Given the description of an element on the screen output the (x, y) to click on. 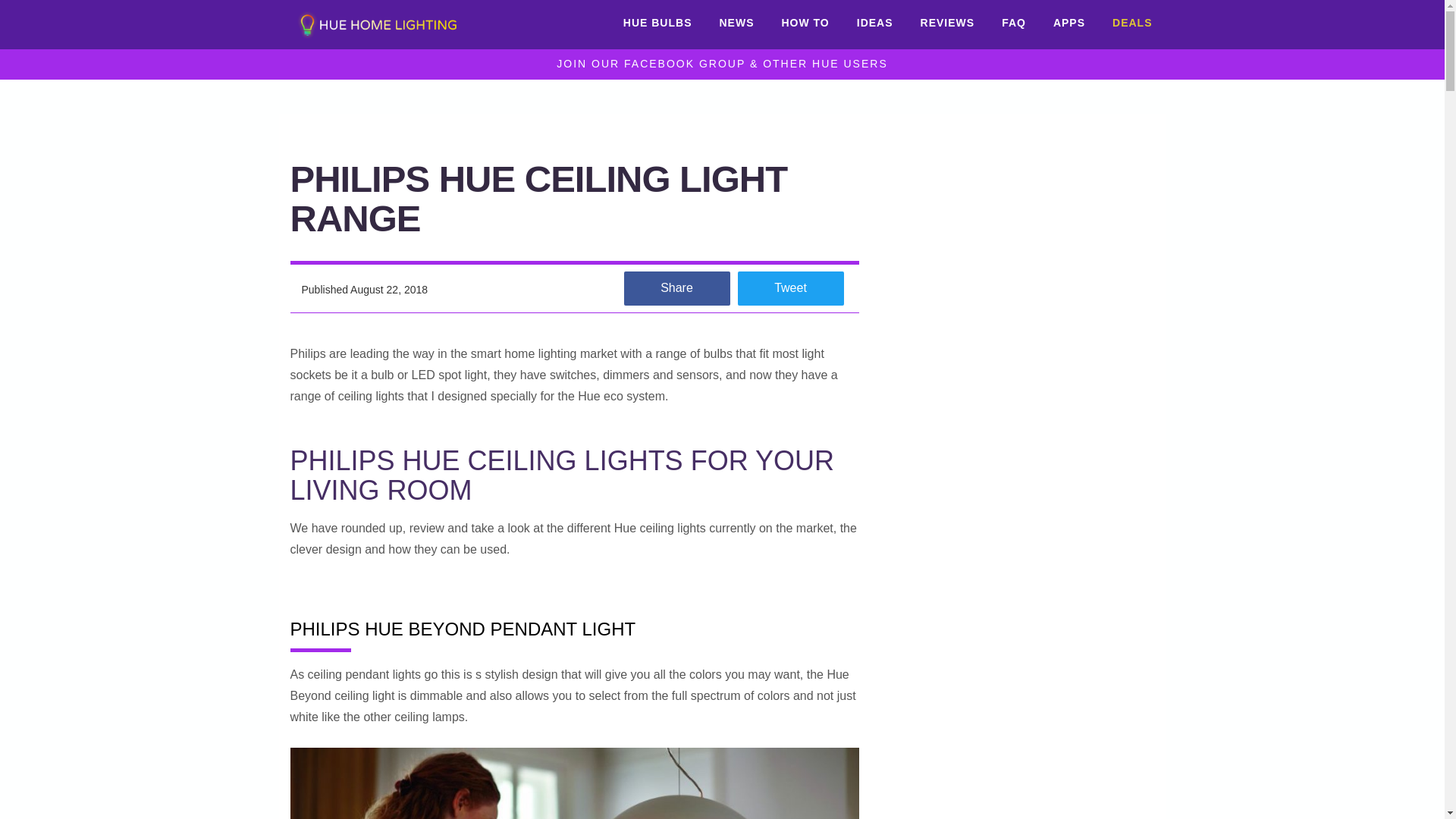
HUE BULBS (658, 22)
Share (676, 288)
Tweet (789, 288)
APPS (1069, 22)
REVIEWS (947, 22)
Hue Home Lighting Home (381, 24)
NEWS (735, 22)
IDEAS (875, 22)
FAQ (1013, 22)
Reviews (359, 60)
